Given the description of an element on the screen output the (x, y) to click on. 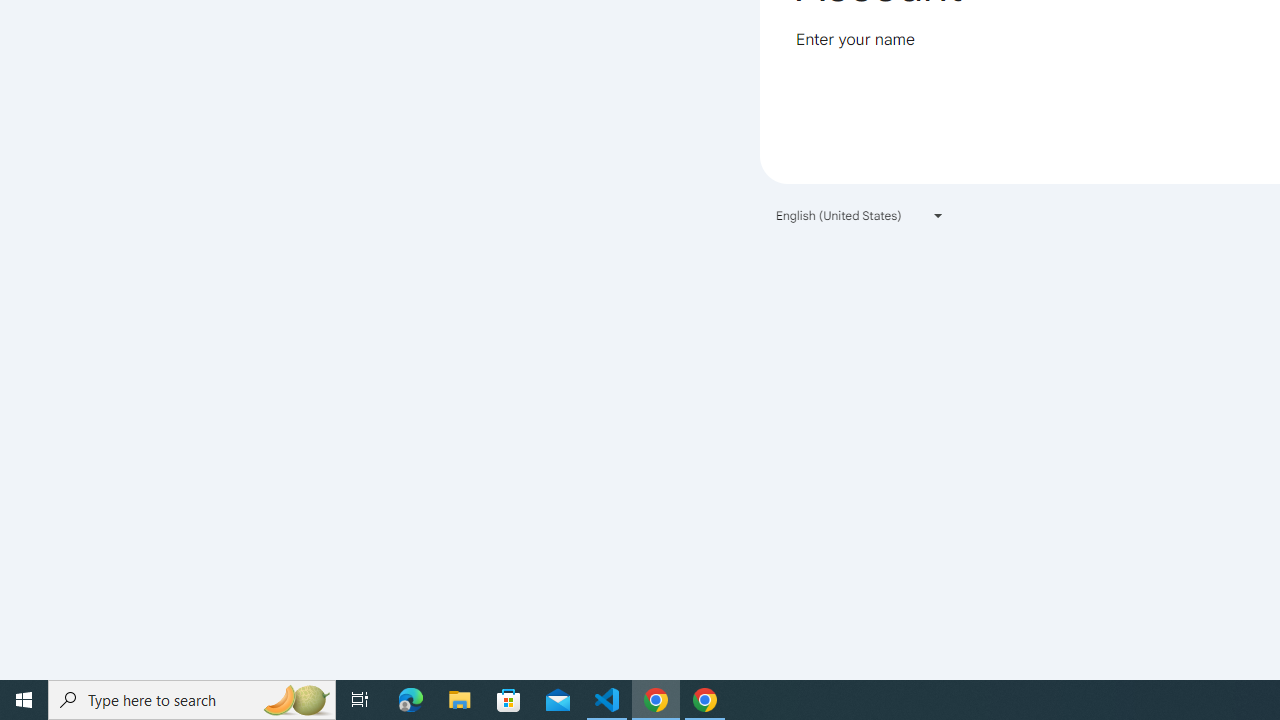
English (United States) (860, 214)
